Given the description of an element on the screen output the (x, y) to click on. 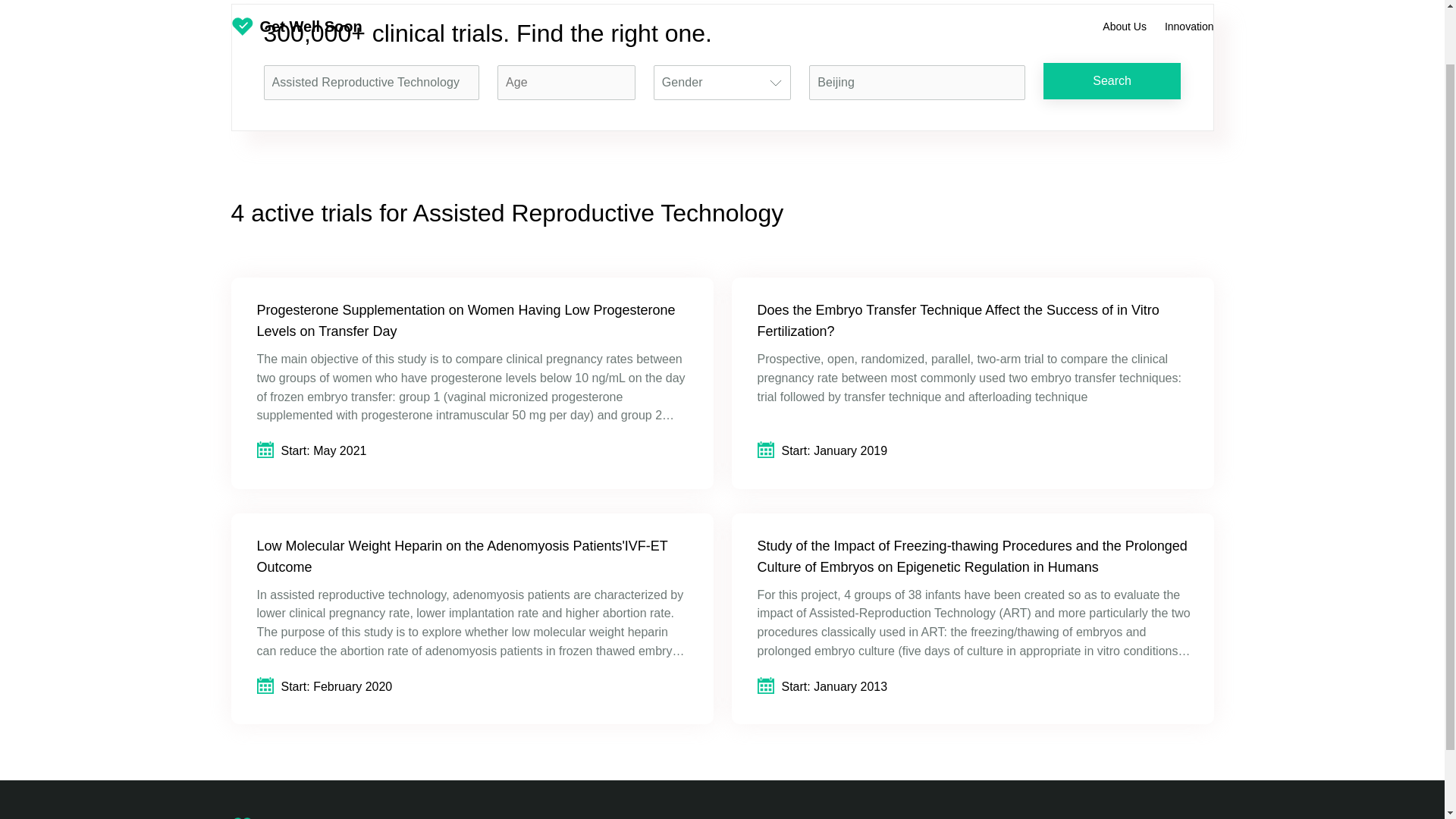
Assisted Reproductive Technology (371, 81)
Beijing (917, 81)
Search (1111, 81)
